Given the description of an element on the screen output the (x, y) to click on. 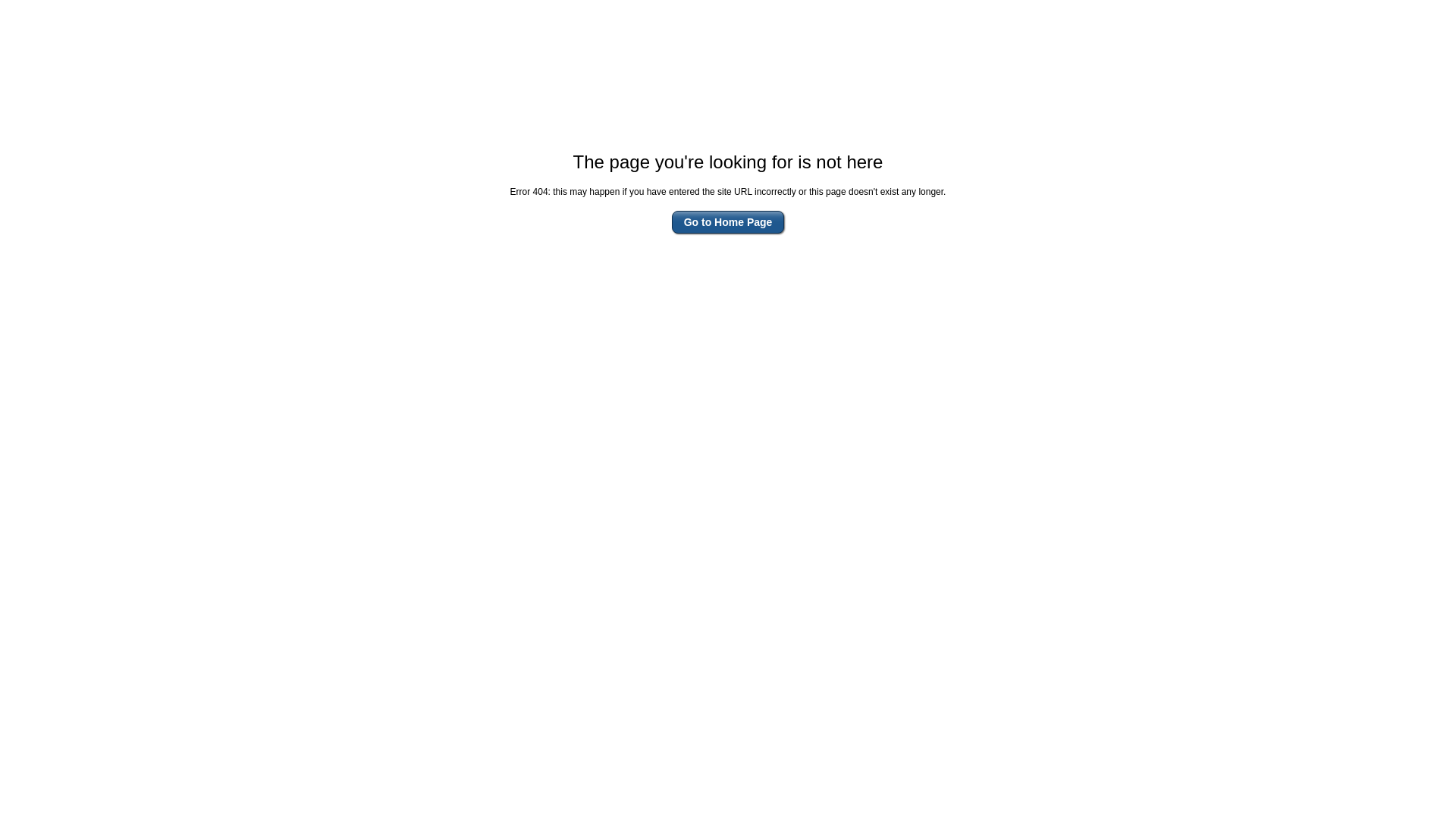
Go to Home Page Element type: text (727, 221)
